Given the description of an element on the screen output the (x, y) to click on. 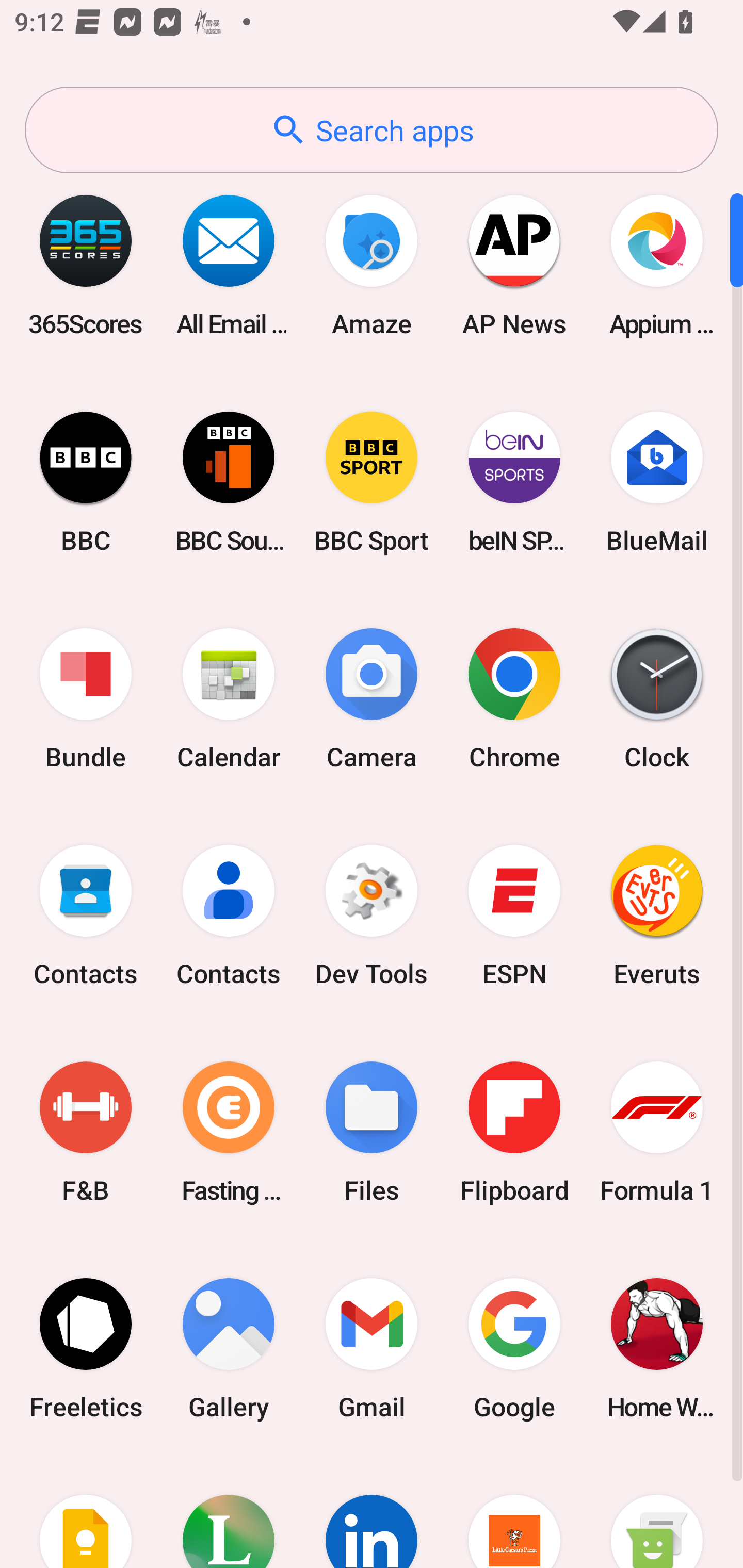
  Search apps (371, 130)
365Scores (85, 264)
All Email Connect (228, 264)
Amaze (371, 264)
AP News (514, 264)
Appium Settings (656, 264)
BBC (85, 482)
BBC Sounds (228, 482)
BBC Sport (371, 482)
beIN SPORTS (514, 482)
BlueMail (656, 482)
Bundle (85, 699)
Calendar (228, 699)
Camera (371, 699)
Chrome (514, 699)
Clock (656, 699)
Contacts (85, 915)
Contacts (228, 915)
Dev Tools (371, 915)
ESPN (514, 915)
Everuts (656, 915)
F&B (85, 1131)
Fasting Coach (228, 1131)
Files (371, 1131)
Flipboard (514, 1131)
Formula 1 (656, 1131)
Freeletics (85, 1348)
Gallery (228, 1348)
Gmail (371, 1348)
Google (514, 1348)
Home Workout (656, 1348)
